Given the description of an element on the screen output the (x, y) to click on. 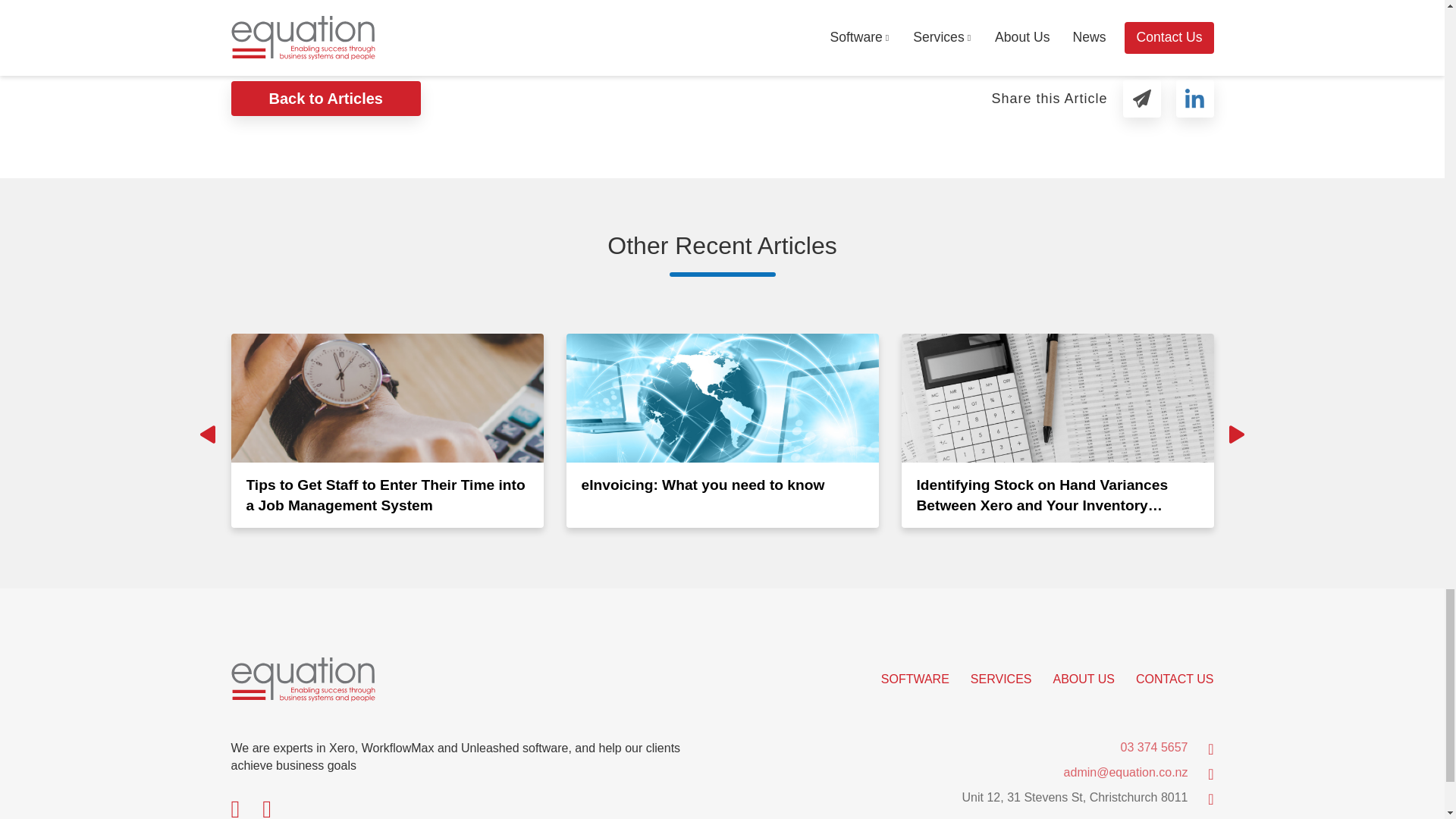
eInvoicing: What you need to know (721, 430)
03 374 5657 (1154, 747)
eInvoicing: What you need to know (721, 430)
Back to Articles (325, 98)
